Given the description of an element on the screen output the (x, y) to click on. 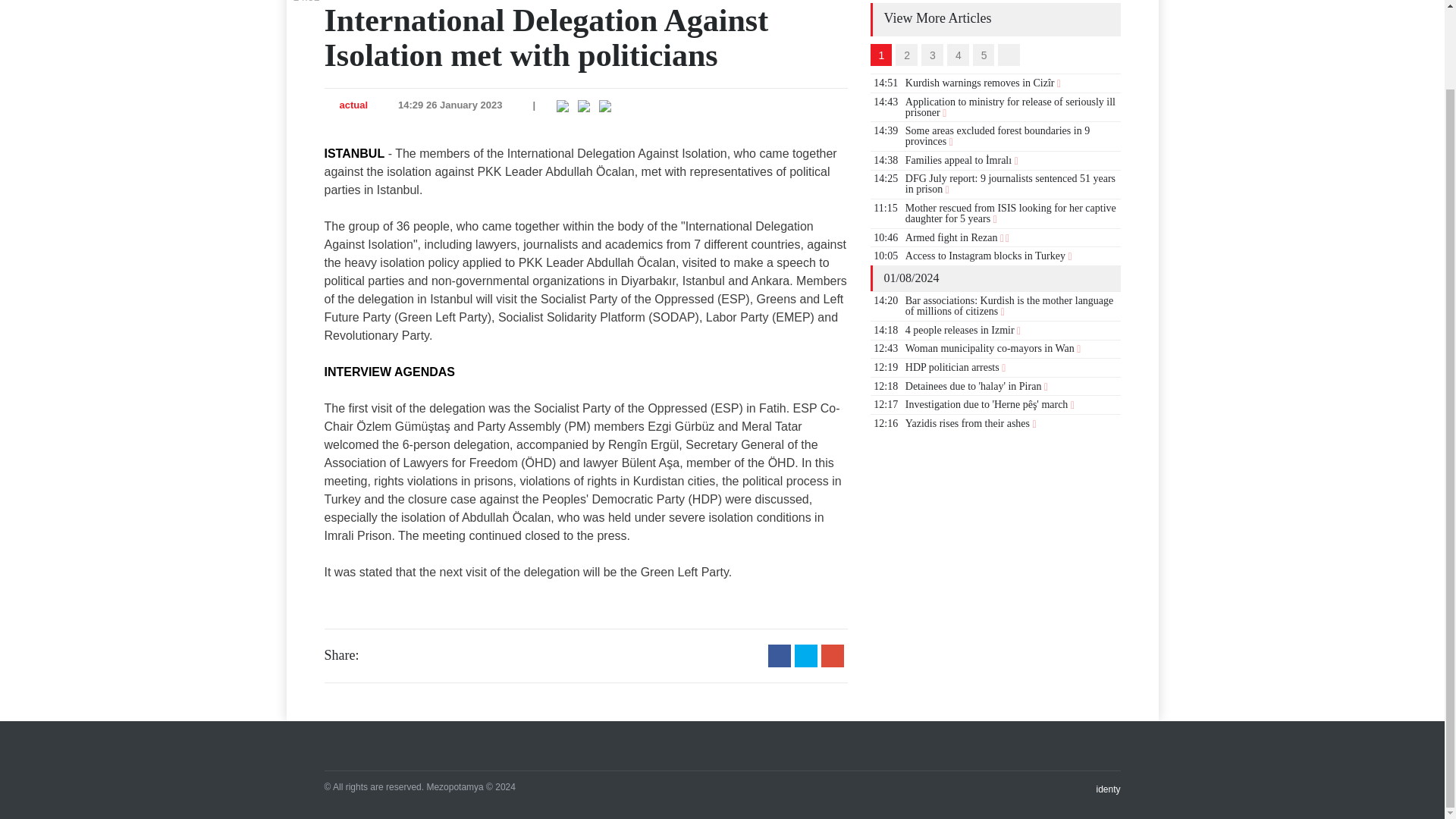
14:51 (305, 1)
